Given the description of an element on the screen output the (x, y) to click on. 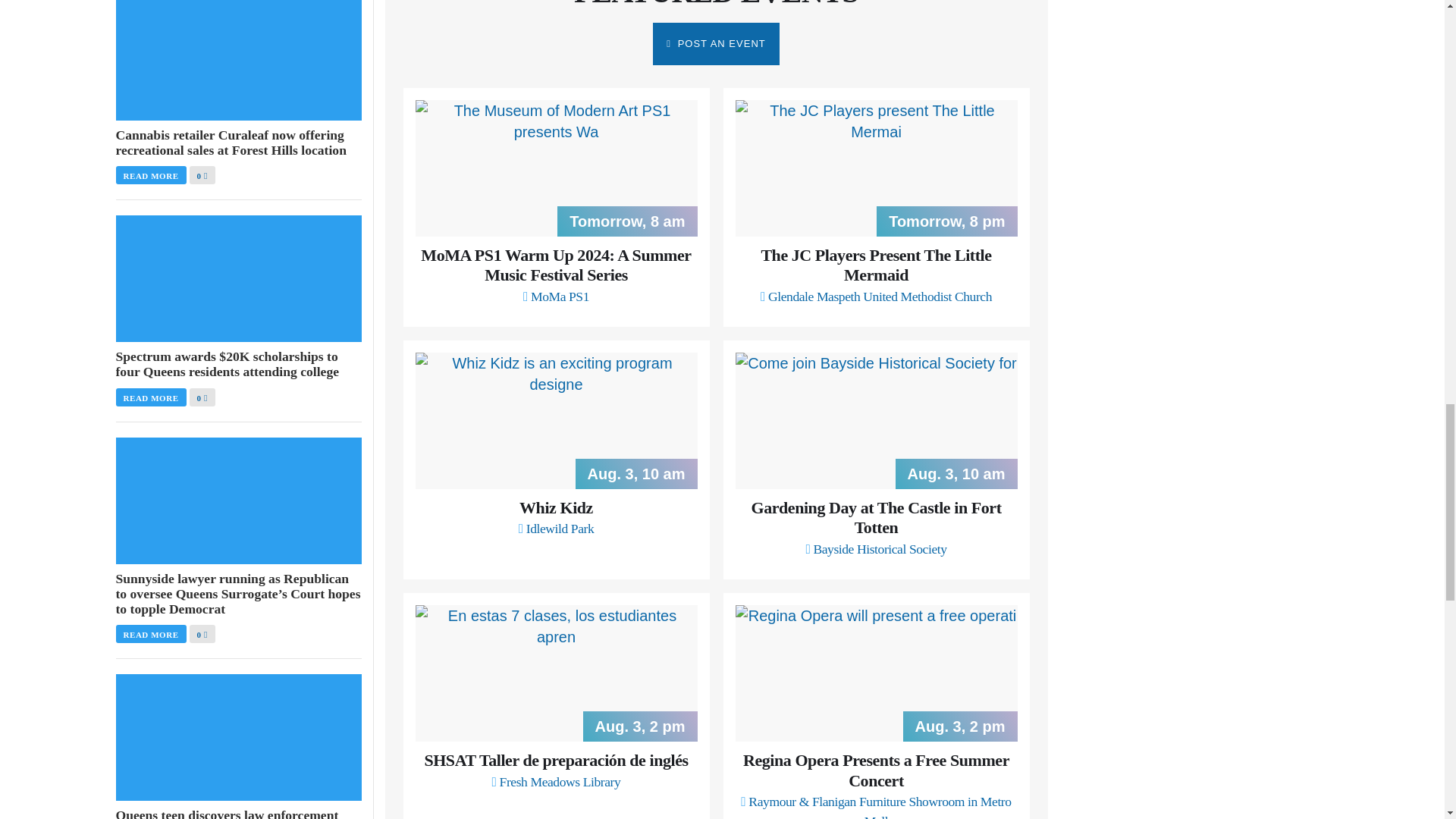
FEATURED EVENTS (716, 4)
POST AN EVENT (715, 43)
